Given the description of an element on the screen output the (x, y) to click on. 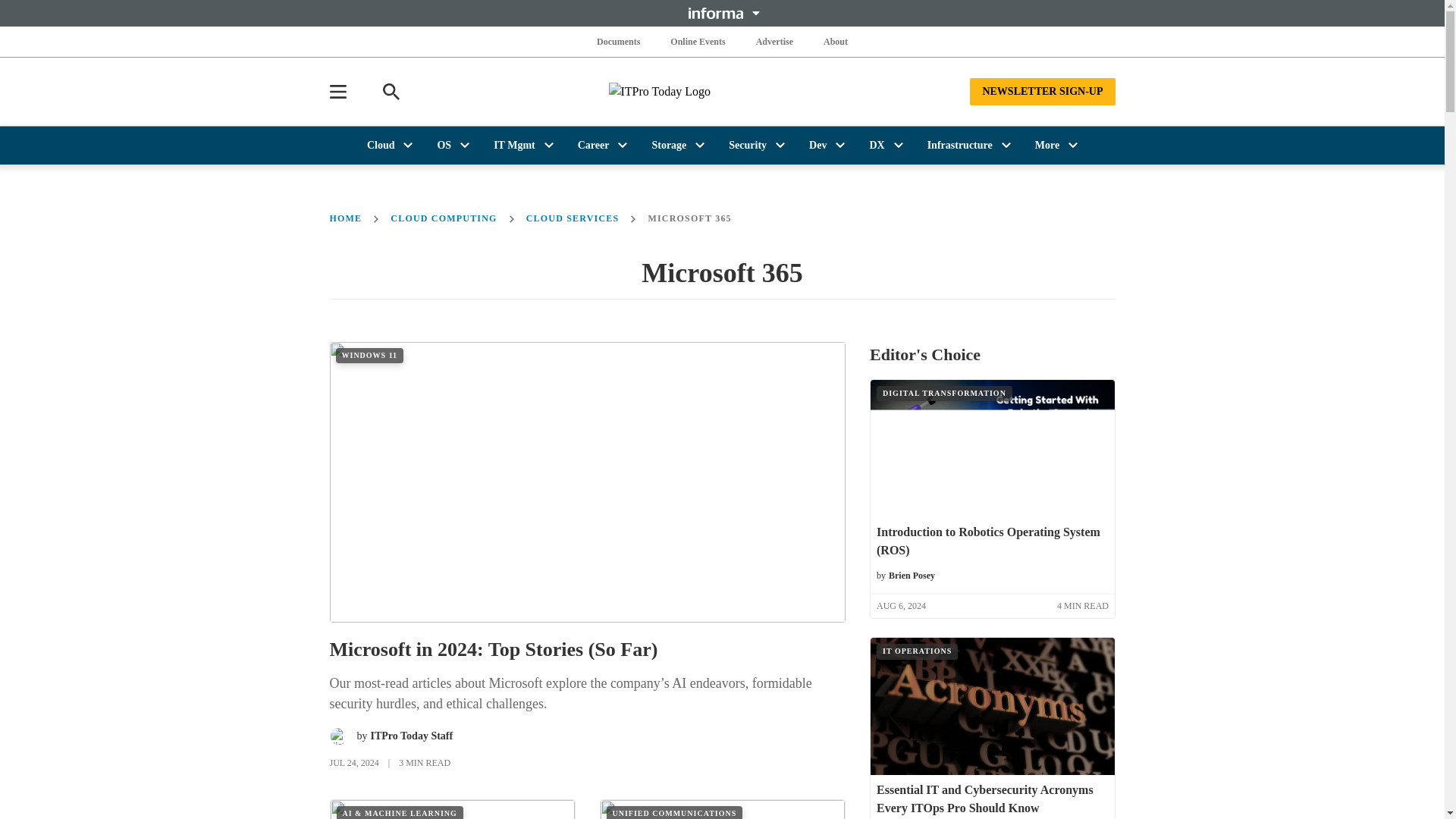
Advertise (774, 41)
Documents (618, 41)
Online Events (697, 41)
About (835, 41)
ITPro Today Logo (721, 91)
NEWSLETTER SIGN-UP (1042, 90)
